Given the description of an element on the screen output the (x, y) to click on. 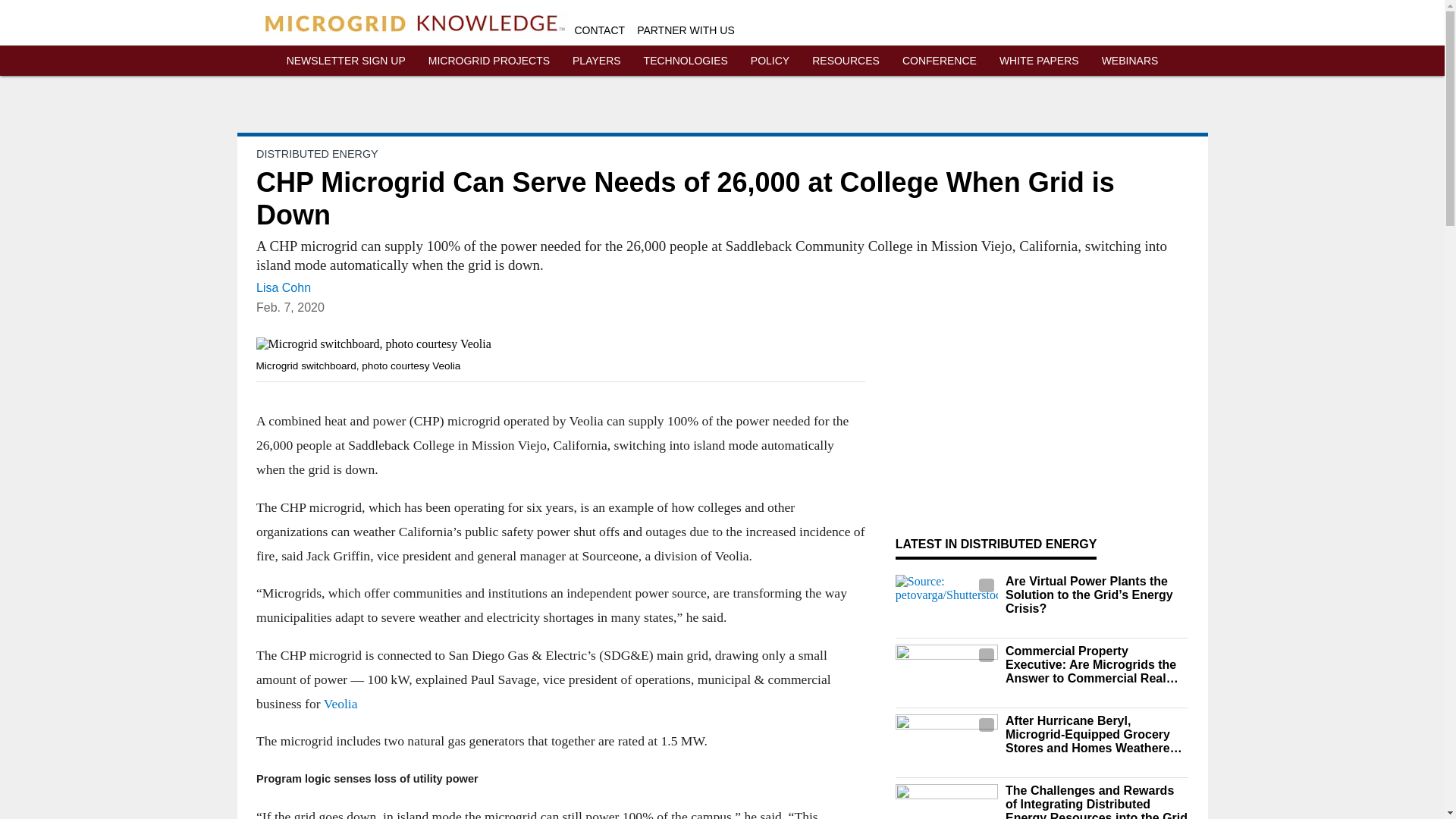
TECHNOLOGIES (685, 60)
DISTRIBUTED ENERGY (317, 153)
CONFERENCE (939, 60)
LATEST IN DISTRIBUTED ENERGY (996, 543)
CONTACT (600, 30)
PARTNER WITH US (686, 30)
Veolia (339, 703)
RESOURCES (845, 60)
NEWSLETTER SIGN UP (346, 60)
